Given the description of an element on the screen output the (x, y) to click on. 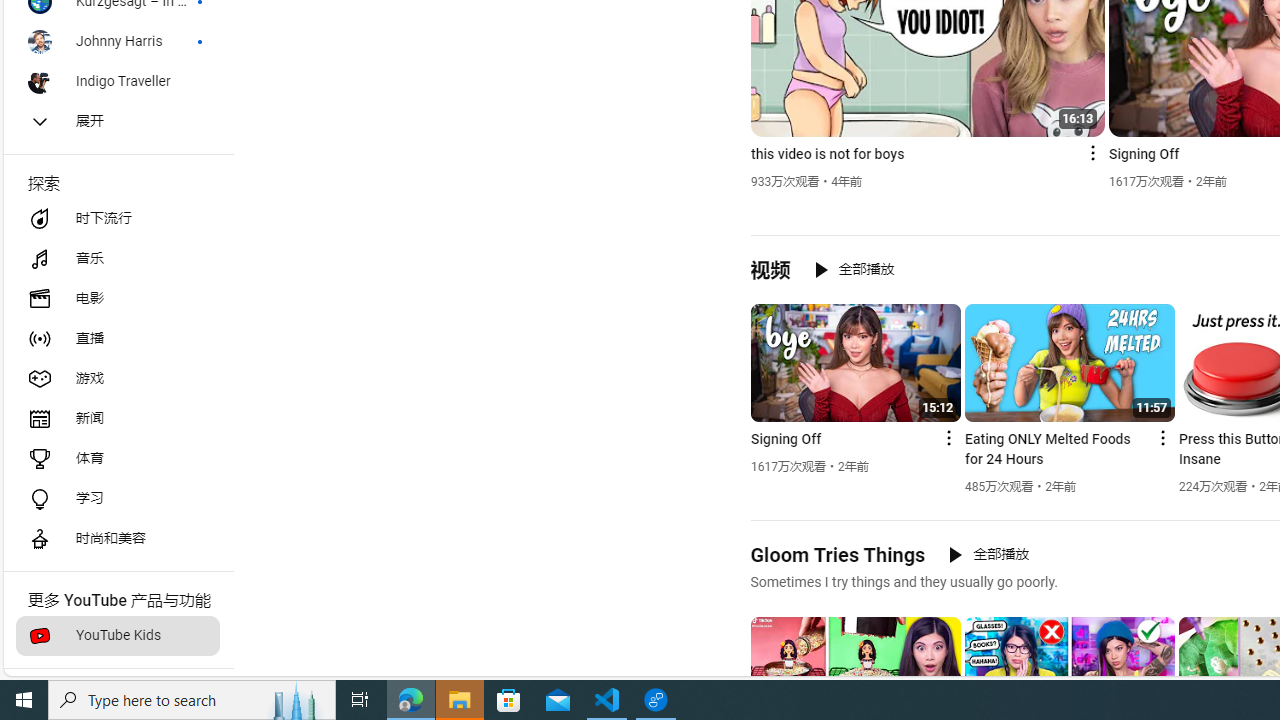
Indigo Traveller (117, 81)
YouTube Kids (117, 635)
